Given the description of an element on the screen output the (x, y) to click on. 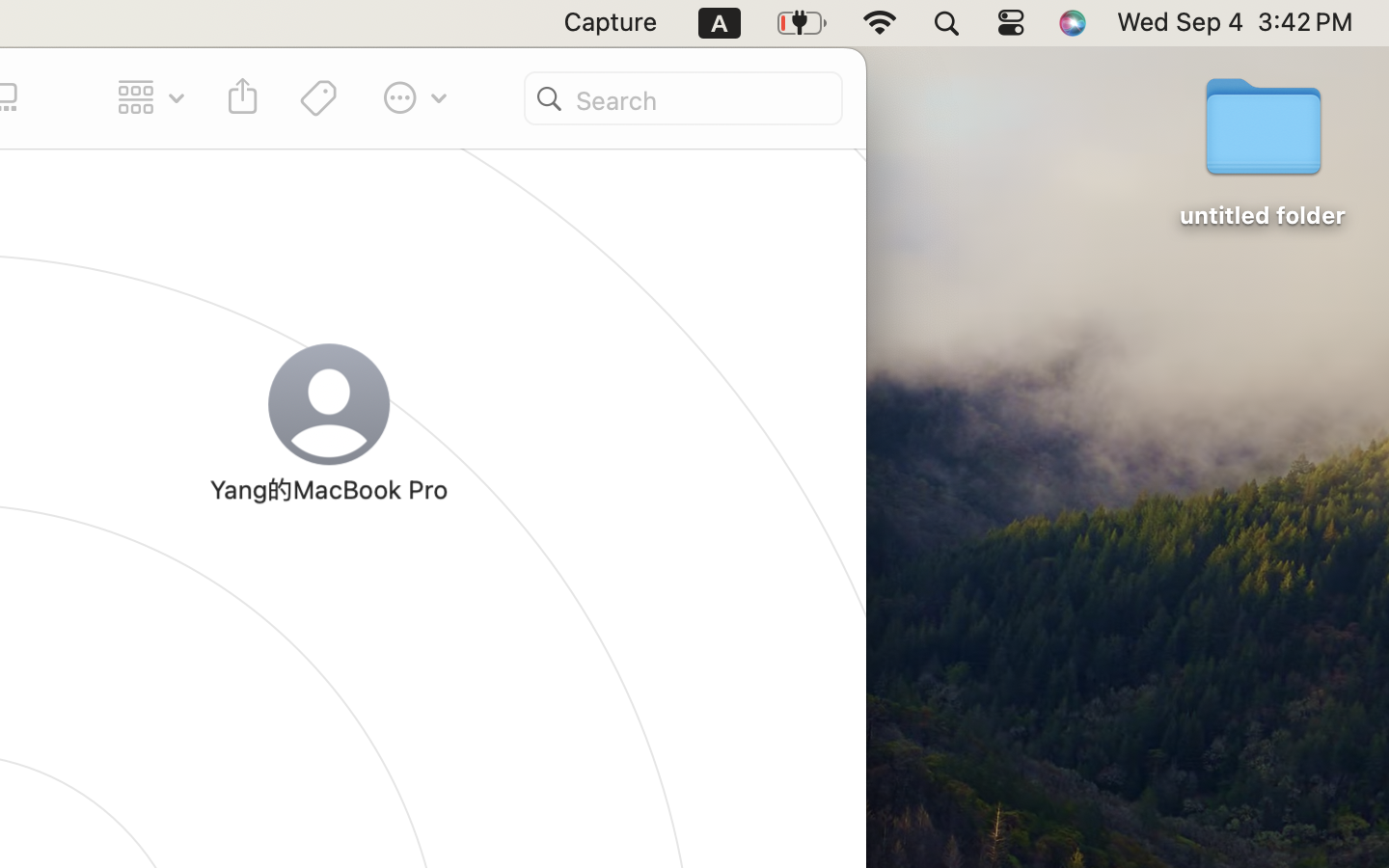
Yang的MacBook Pro Element type: AXStaticText (262, 408)
